Given the description of an element on the screen output the (x, y) to click on. 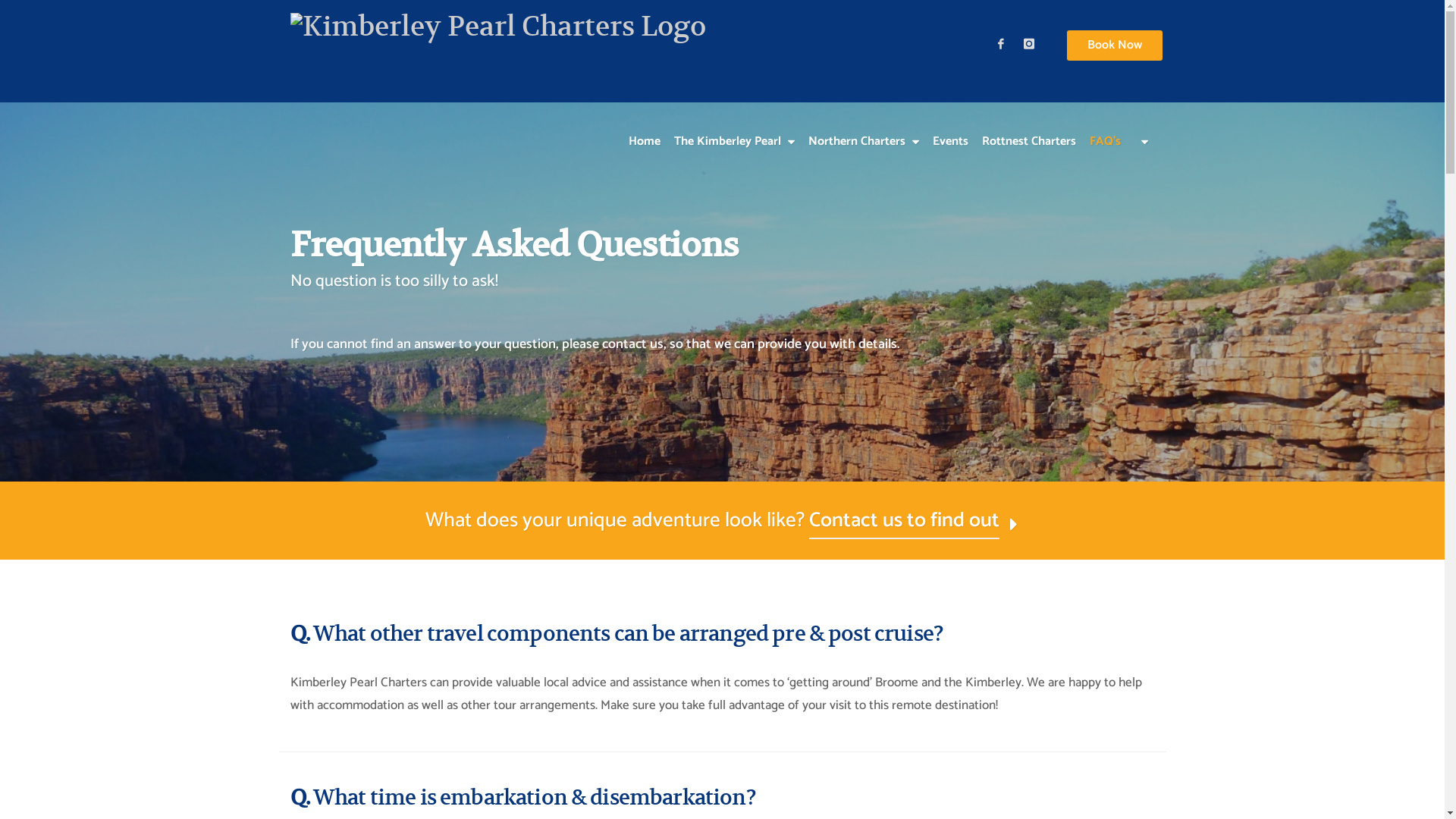
FAQ's Element type: text (1104, 126)
Northern Charters Element type: text (862, 126)
Book Now Element type: text (1113, 45)
Rottnest Charters Element type: text (1028, 126)
Home Element type: text (644, 126)
Events Element type: text (949, 126)
The Kimberley Pearl Element type: text (734, 126)
